Given the description of an element on the screen output the (x, y) to click on. 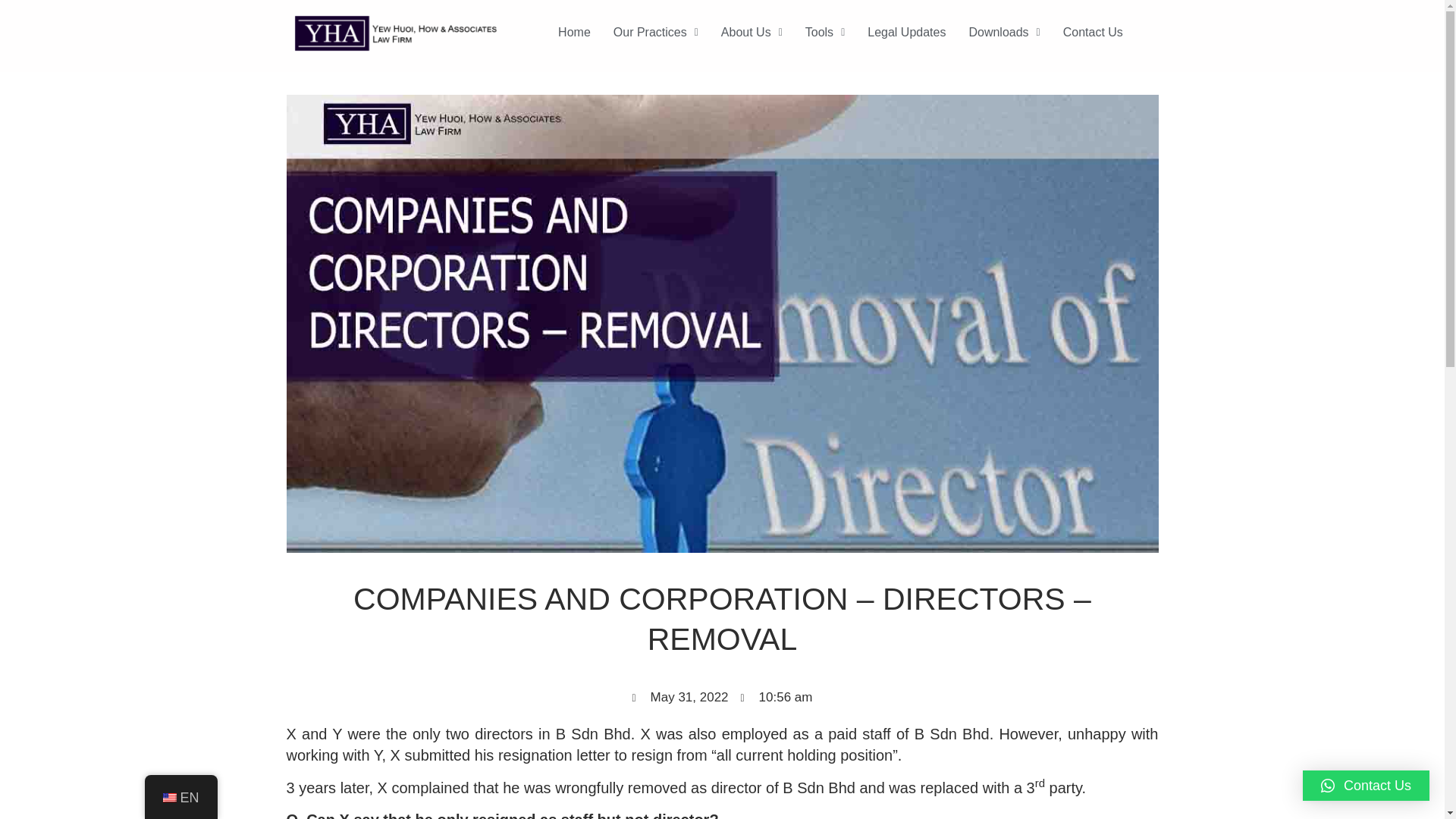
Our Practices (656, 32)
May 31, 2022 (680, 697)
Legal Updates (906, 32)
Tools (824, 32)
Contact Us (1092, 32)
About Us (751, 32)
Downloads (1003, 32)
English (168, 797)
Home (574, 32)
